Given the description of an element on the screen output the (x, y) to click on. 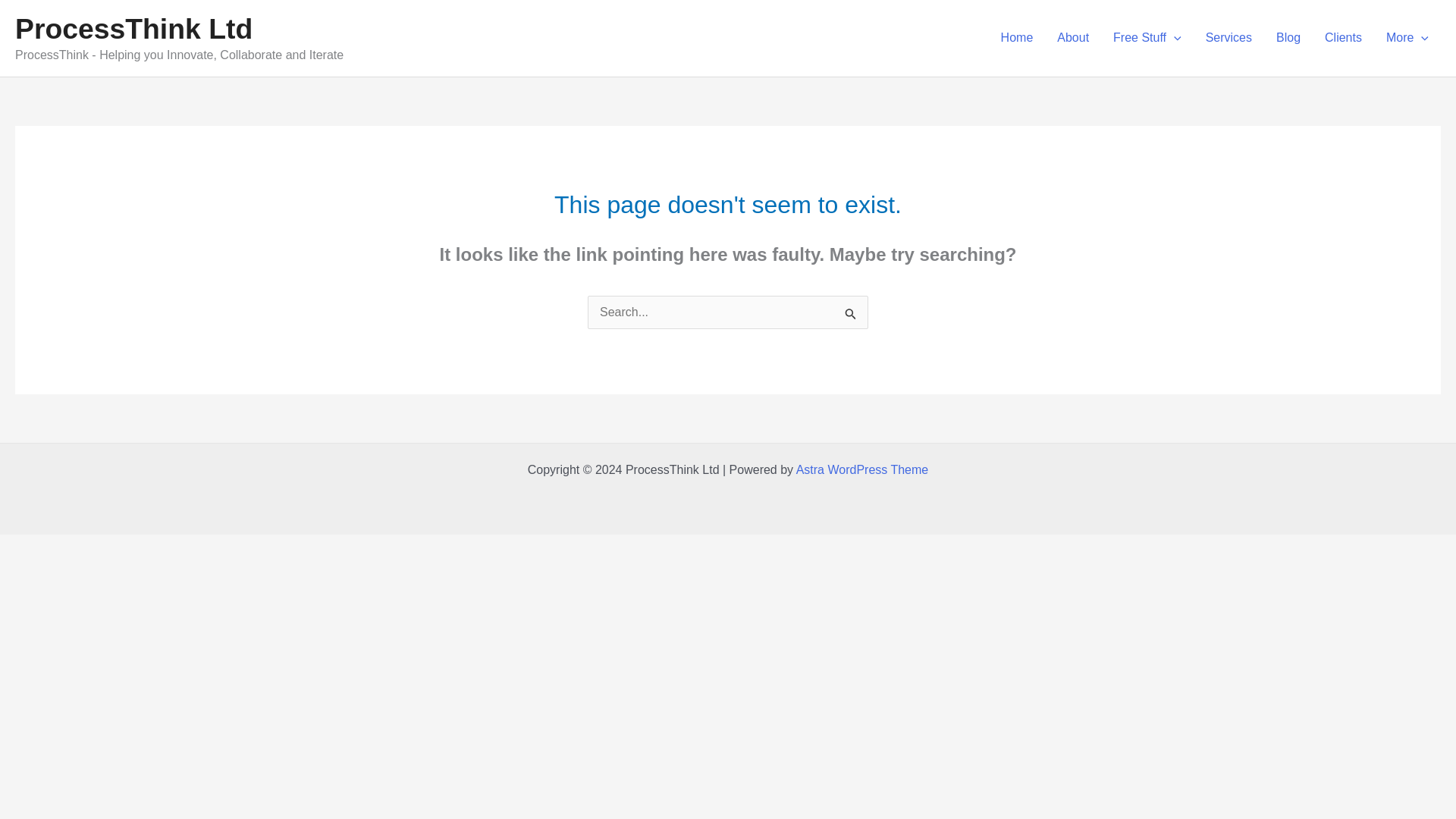
About (1072, 37)
ProcessThink Ltd (132, 29)
Astra WordPress Theme (862, 469)
Services (1228, 37)
Home (1016, 37)
More (1407, 37)
Blog (1288, 37)
Free Stuff (1146, 37)
Clients (1343, 37)
